Given the description of an element on the screen output the (x, y) to click on. 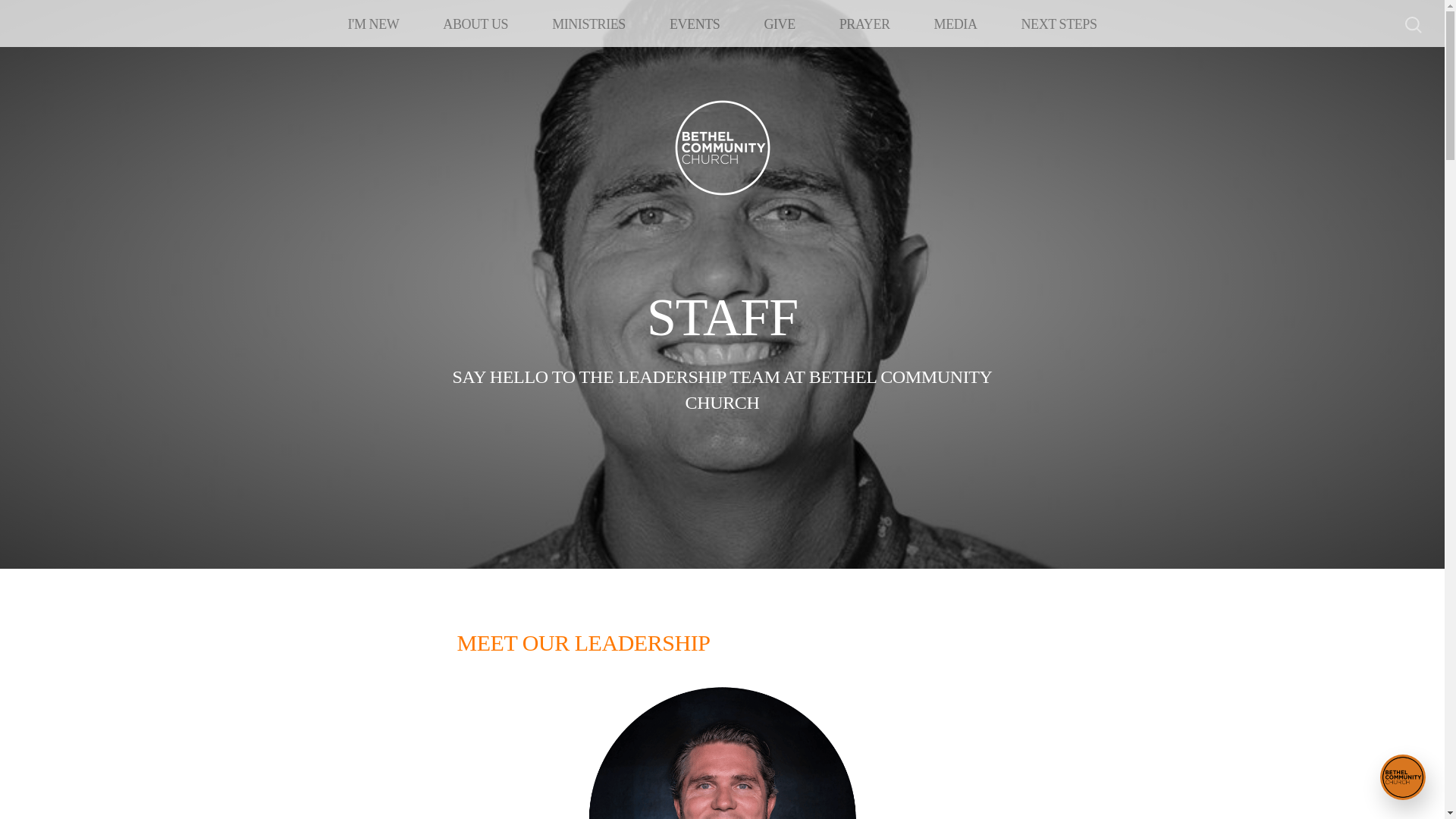
NEXT STEPS Element type: text (1058, 23)
MINISTRIES Element type: text (588, 23)
EVENTS Element type: text (694, 23)
ABOUT US Element type: text (475, 23)
PRAYER Element type: text (864, 23)
MEDIA Element type: text (955, 23)
I'M NEW Element type: text (373, 23)
GIVE Element type: text (779, 23)
